Given the description of an element on the screen output the (x, y) to click on. 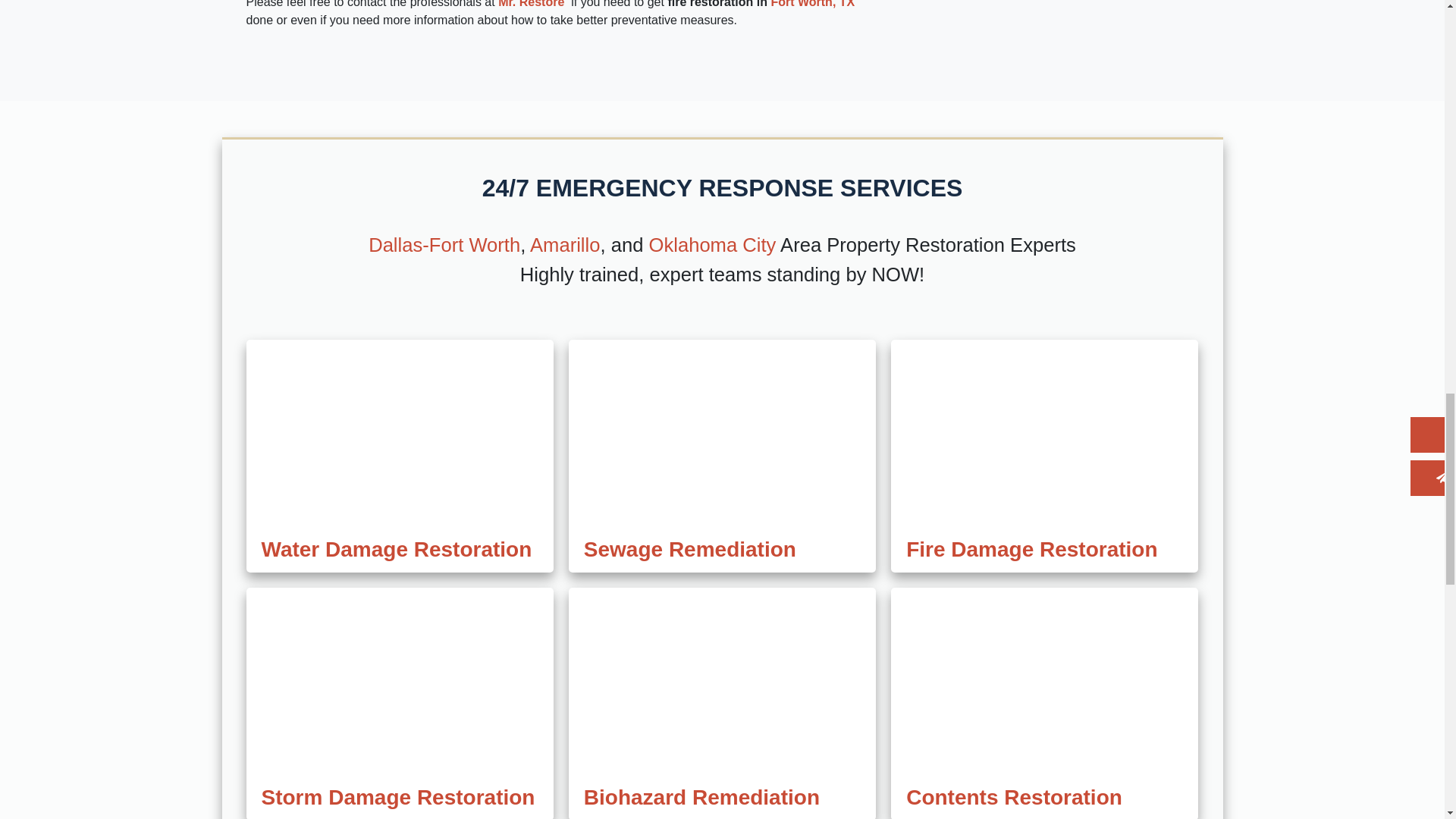
View Our Amarillo Location (564, 244)
View Our Oklahoma City Location (712, 244)
View Our Dallas-Fort Worth Location (443, 244)
For Worth, TX Website (812, 4)
Mr. Restore Website (530, 4)
